Given the description of an element on the screen output the (x, y) to click on. 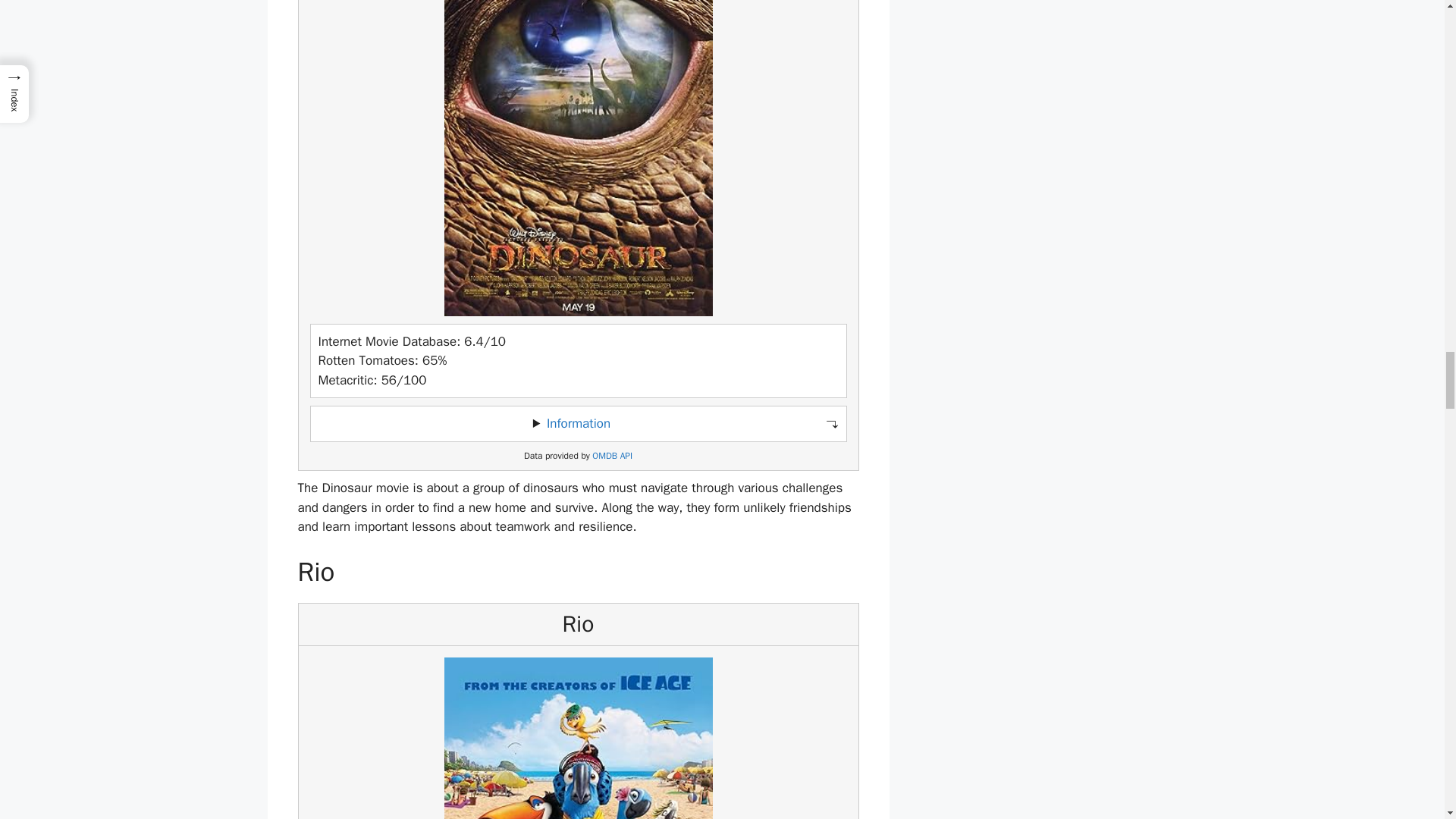
Information (578, 423)
Toggle information (578, 423)
OMDB API (611, 455)
Open Movie Database API (611, 455)
